Given the description of an element on the screen output the (x, y) to click on. 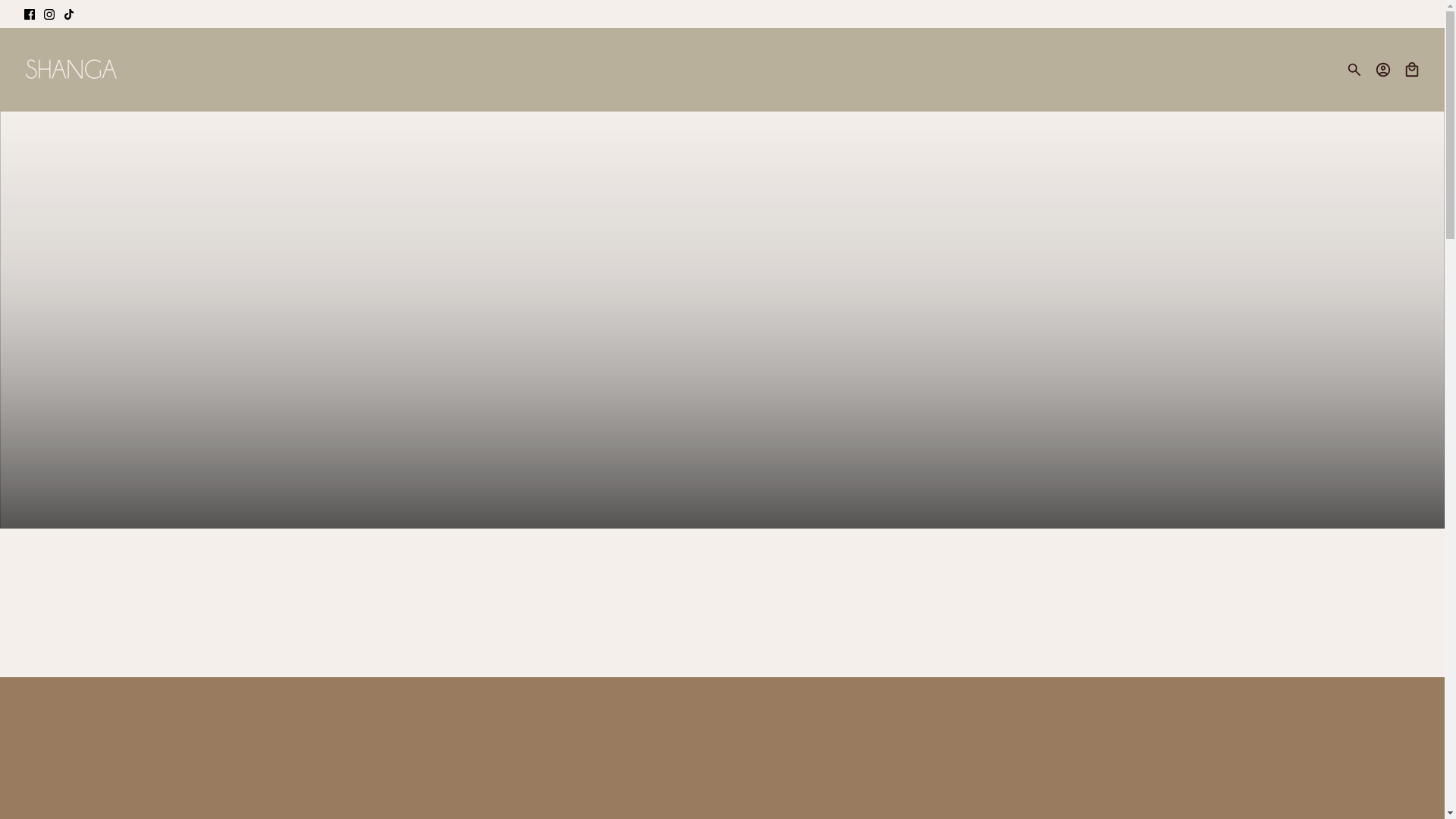
Shanga (70, 69)
